Given the description of an element on the screen output the (x, y) to click on. 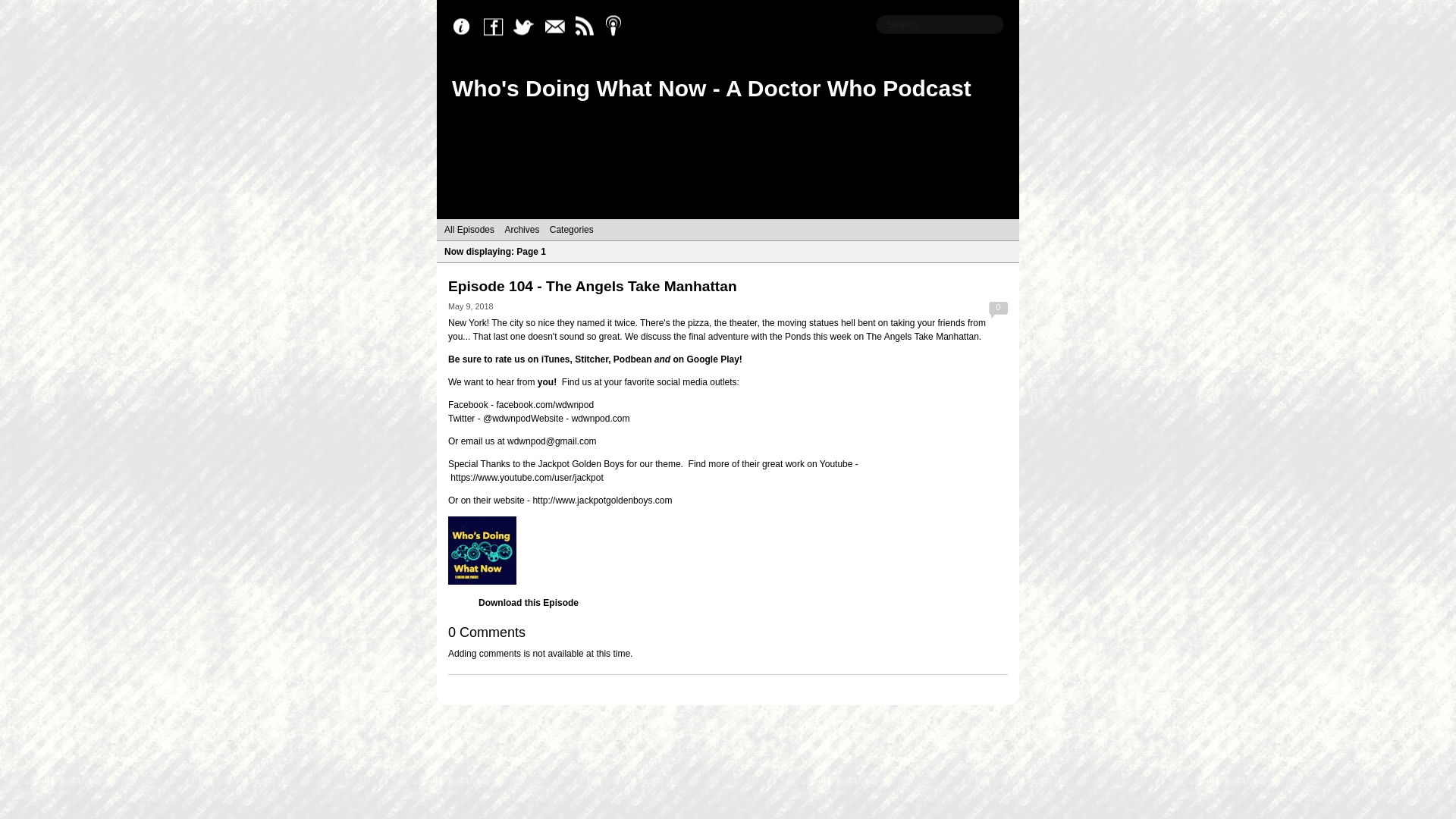
RSS Feed (588, 26)
Email (558, 26)
Subscribe in Apple Podcasts (618, 26)
Who's Doing What Now - A Doctor Who Podcast (711, 88)
Libsyn Player (727, 550)
Twitter (527, 26)
Facebook (496, 26)
